Given the description of an element on the screen output the (x, y) to click on. 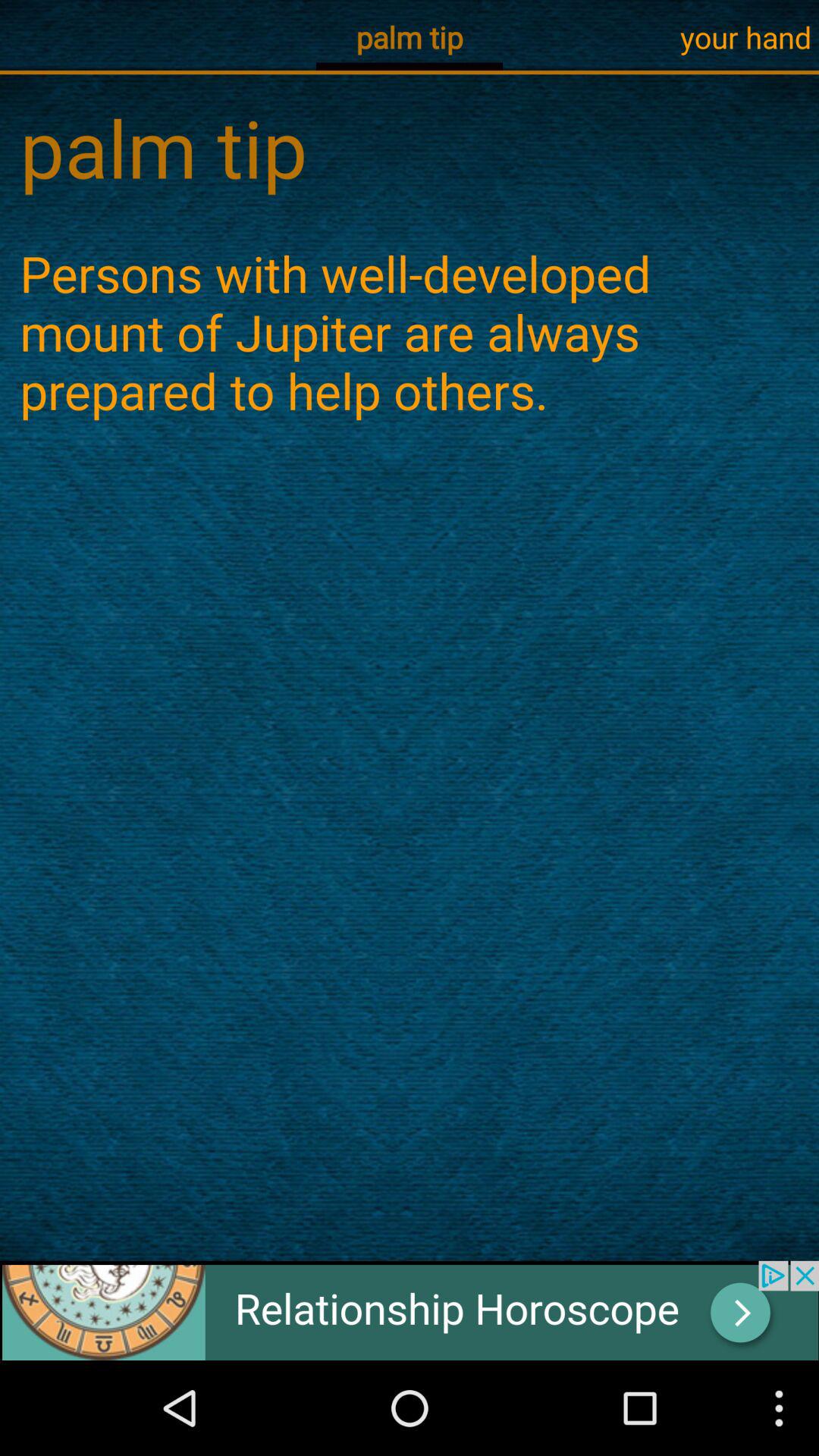
advertisement (409, 1310)
